Given the description of an element on the screen output the (x, y) to click on. 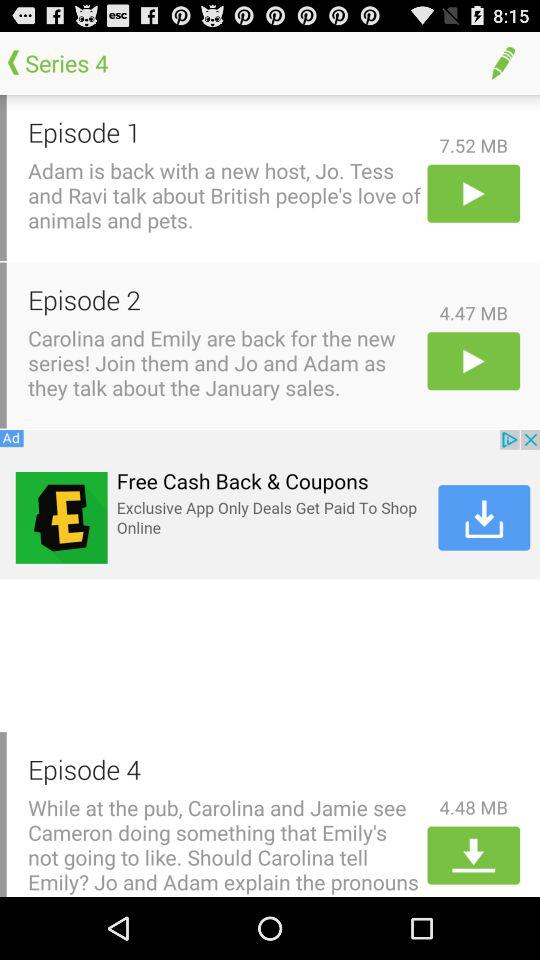
scroll down (473, 855)
